Given the description of an element on the screen output the (x, y) to click on. 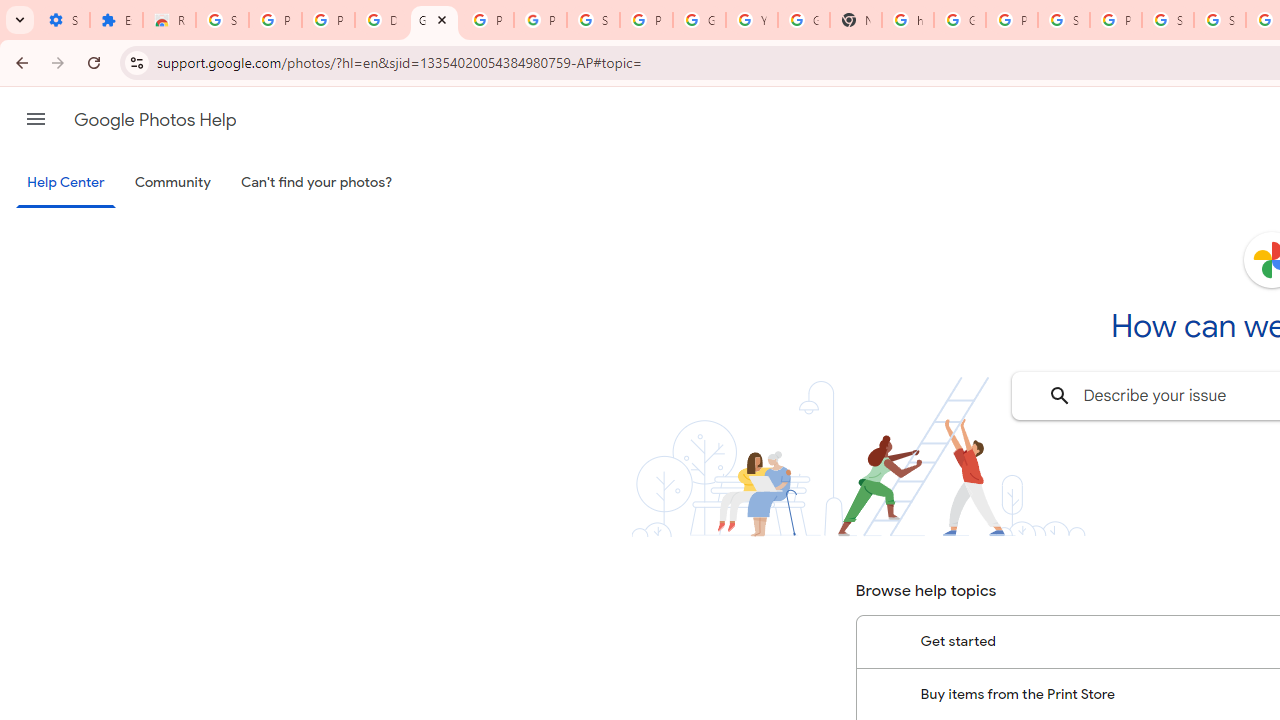
Reviews: Helix Fruit Jump Arcade Game (169, 20)
Google Photos Help (155, 119)
Can't find your photos? (317, 183)
Sign in - Google Accounts (1219, 20)
Settings - On startup (63, 20)
